Given the description of an element on the screen output the (x, y) to click on. 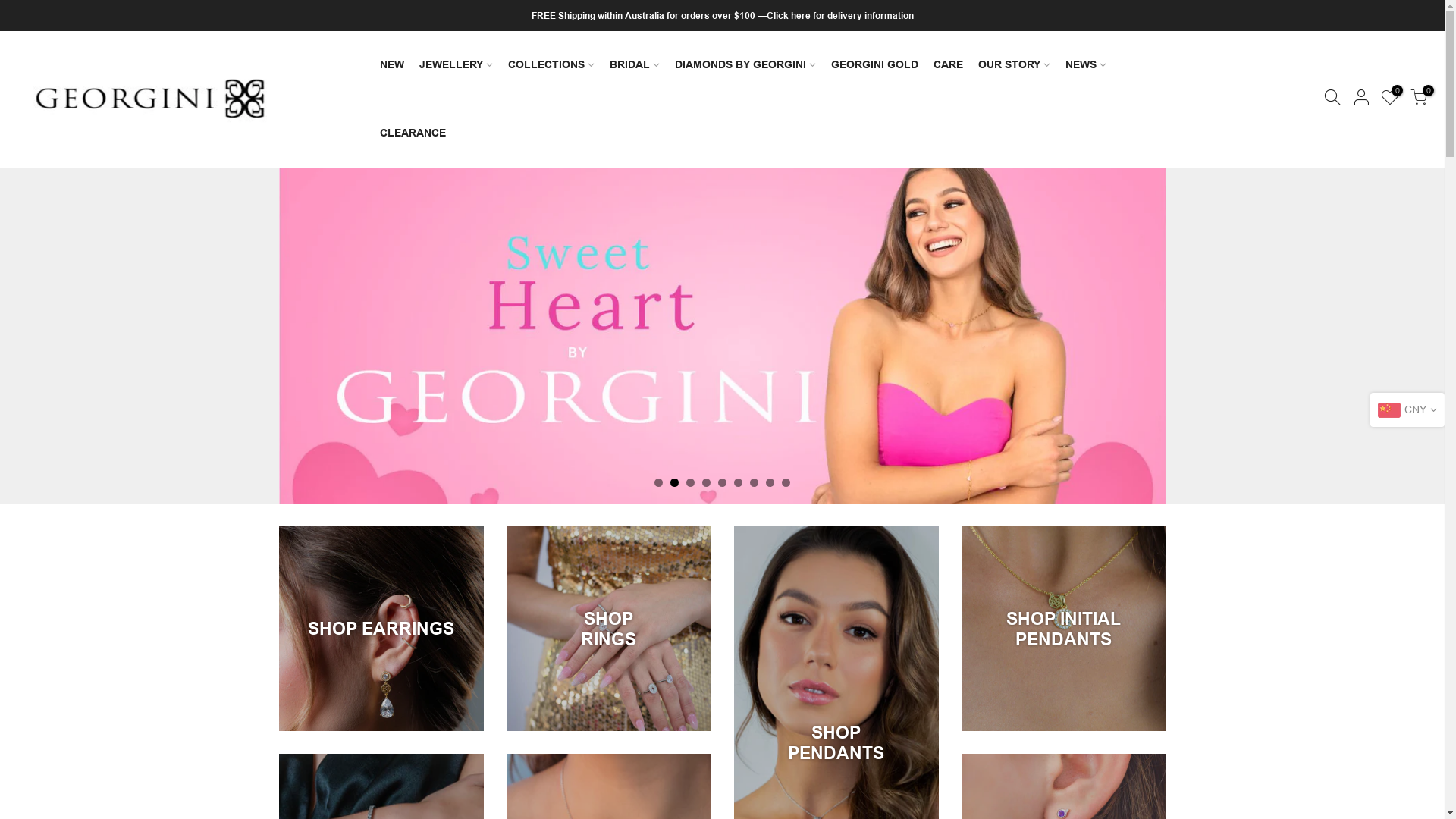
0 Element type: text (1418, 99)
CARE Element type: text (947, 65)
COLLECTIONS Element type: text (551, 65)
GEORGINI GOLD Element type: text (874, 65)
NEW Element type: text (391, 65)
0 Element type: text (1389, 99)
DIAMONDS BY GEORGINI Element type: text (745, 65)
NEWS Element type: text (1085, 65)
CLEARANCE Element type: text (412, 133)
OUR STORY Element type: text (1013, 65)
BRIDAL Element type: text (634, 65)
JEWELLERY Element type: text (455, 65)
